Given the description of an element on the screen output the (x, y) to click on. 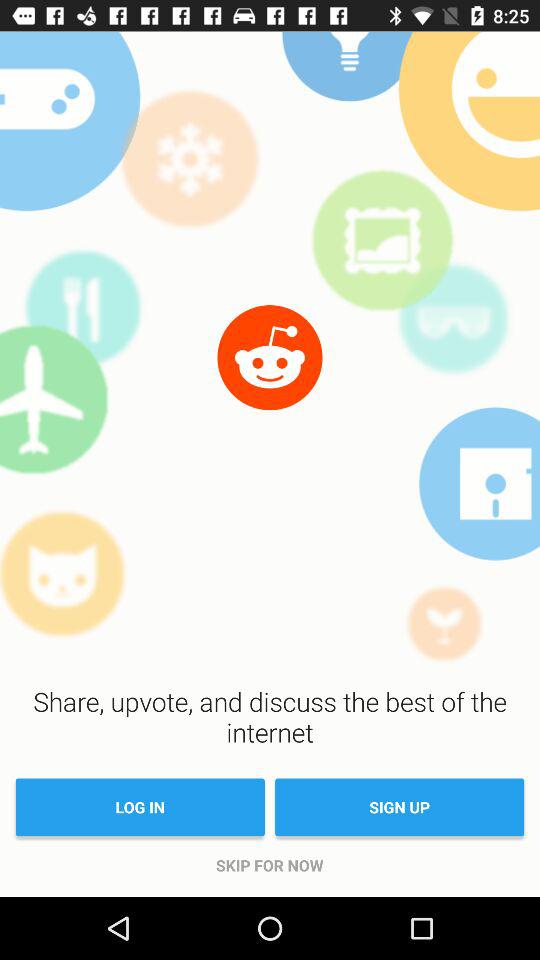
launch the item to the left of the sign up (140, 807)
